Given the description of an element on the screen output the (x, y) to click on. 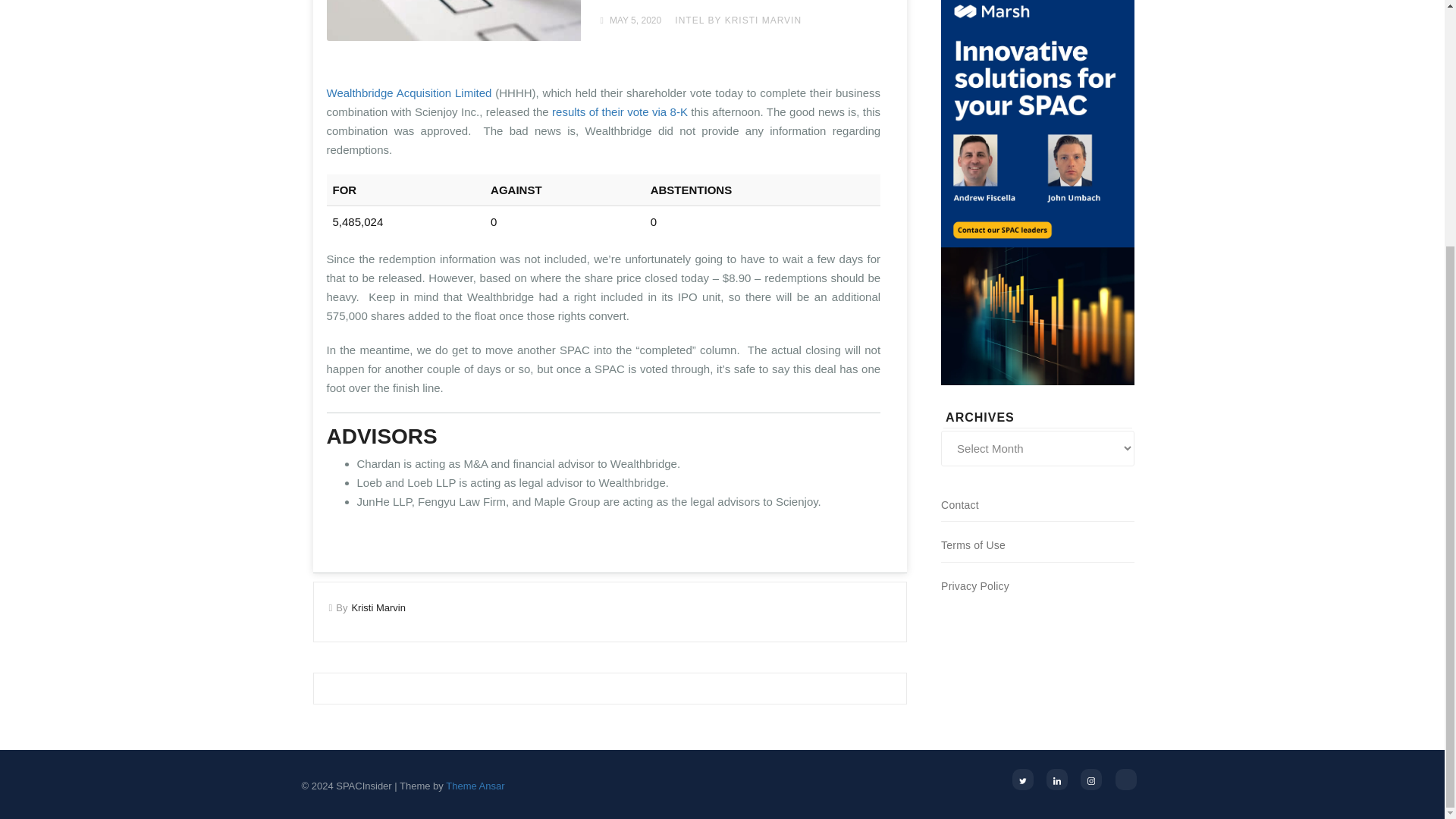
Privacy Policy (974, 585)
BY KRISTI MARVIN (754, 20)
Apple Podcasts (1125, 779)
Wealthbridge Acquisition Limited (409, 92)
Kristi Marvin (378, 607)
Instagram (1091, 779)
Contact (959, 504)
results of their vote via 8-K (619, 111)
LinkedIn (1056, 779)
Twitter (1022, 779)
Theme Ansar (474, 785)
INTEL (689, 20)
Terms of Use (973, 544)
